Given the description of an element on the screen output the (x, y) to click on. 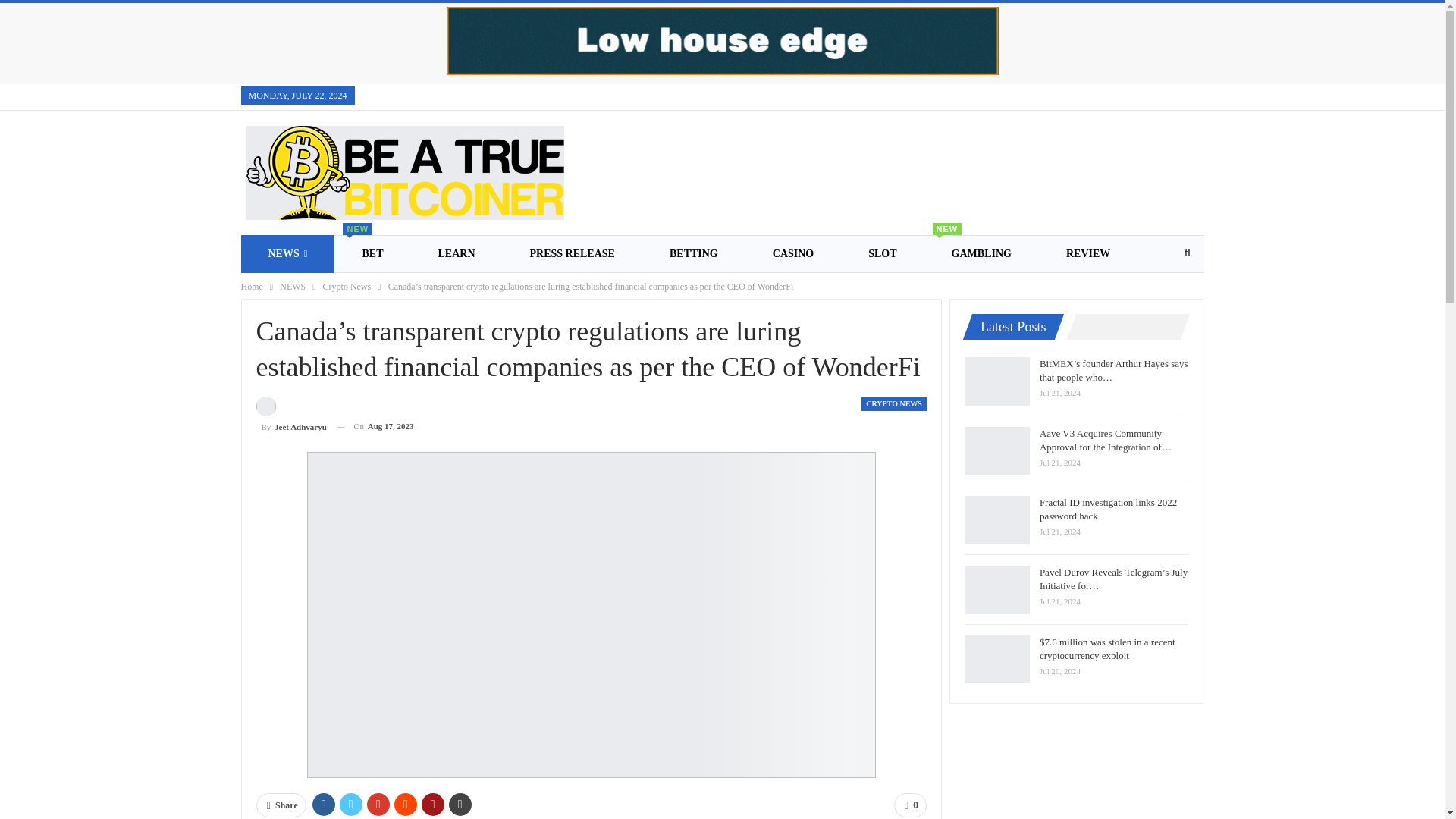
Home (252, 286)
PRESS RELEASE (572, 253)
Browse Author Articles (291, 416)
DISCOVER (296, 291)
NEWS (287, 253)
REVIEW (1088, 253)
0 (909, 805)
By Jeet Adhvaryu (291, 416)
CASINO (793, 253)
SLOT (882, 253)
PRIVACY POLICY (531, 291)
BETTING (693, 253)
CRYPTO NEWS (893, 404)
Crypto News (347, 286)
LEARN (456, 253)
